Given the description of an element on the screen output the (x, y) to click on. 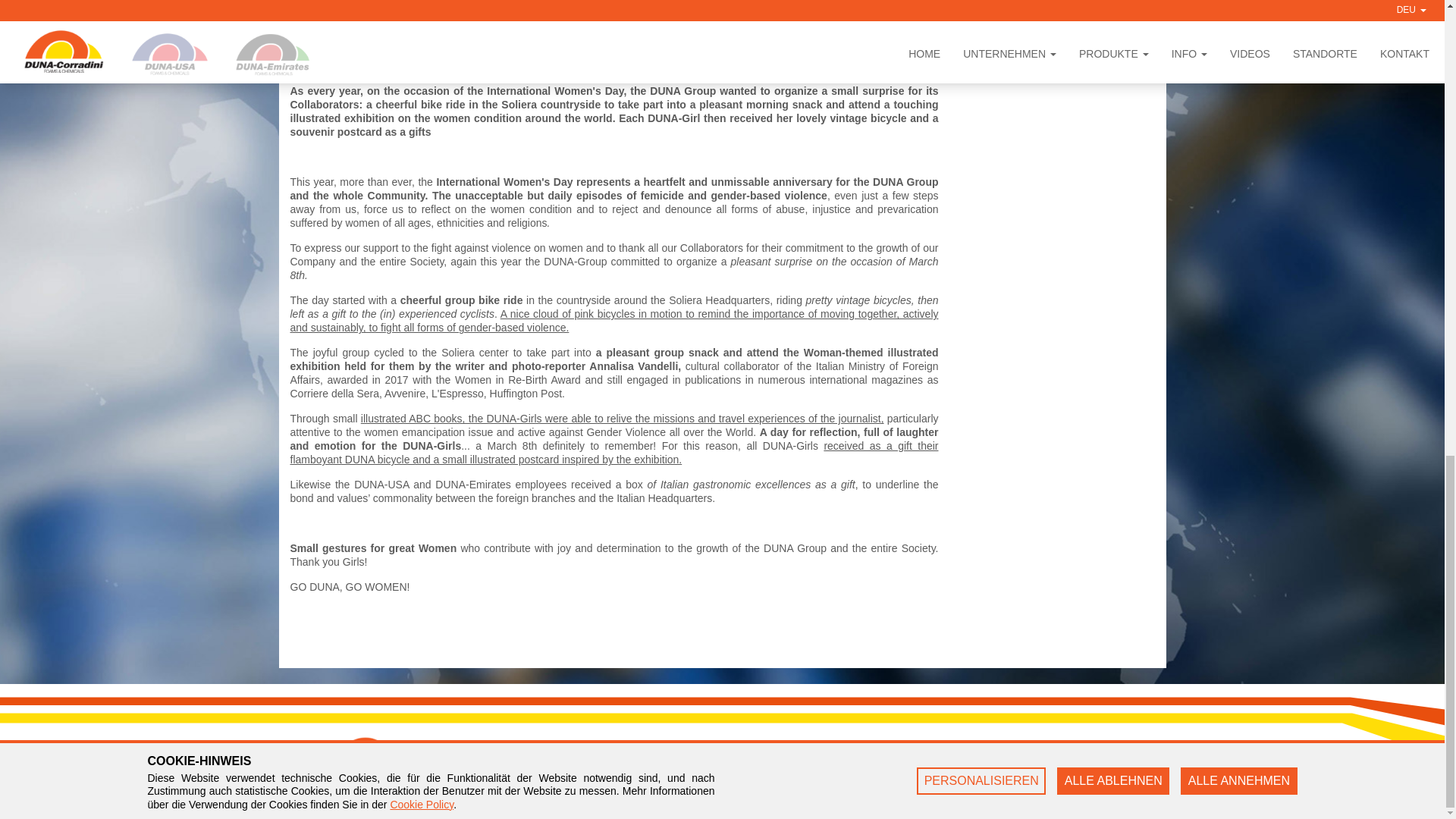
Datenschutz (833, 791)
LinkedIn (972, 778)
Twitter (968, 804)
Kontakt (823, 778)
Newsletter (829, 765)
YouTube (973, 791)
Facebook (975, 765)
Cookie Policy (835, 804)
